Given the description of an element on the screen output the (x, y) to click on. 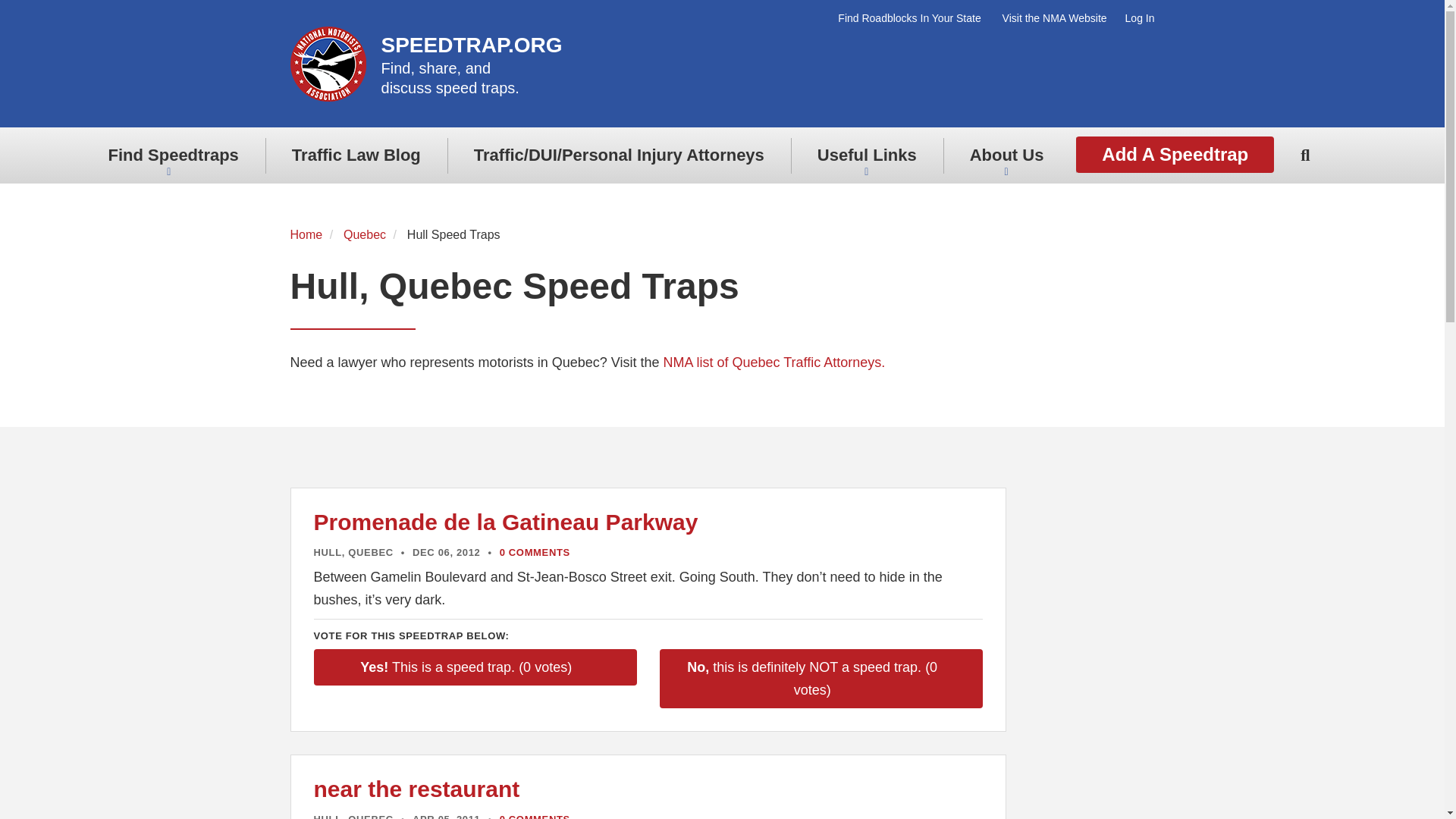
Visit the NMA Website (427, 50)
Log In (1054, 18)
Find Roadblocks In Your State (1135, 18)
Find Speedtraps (914, 18)
